Given the description of an element on the screen output the (x, y) to click on. 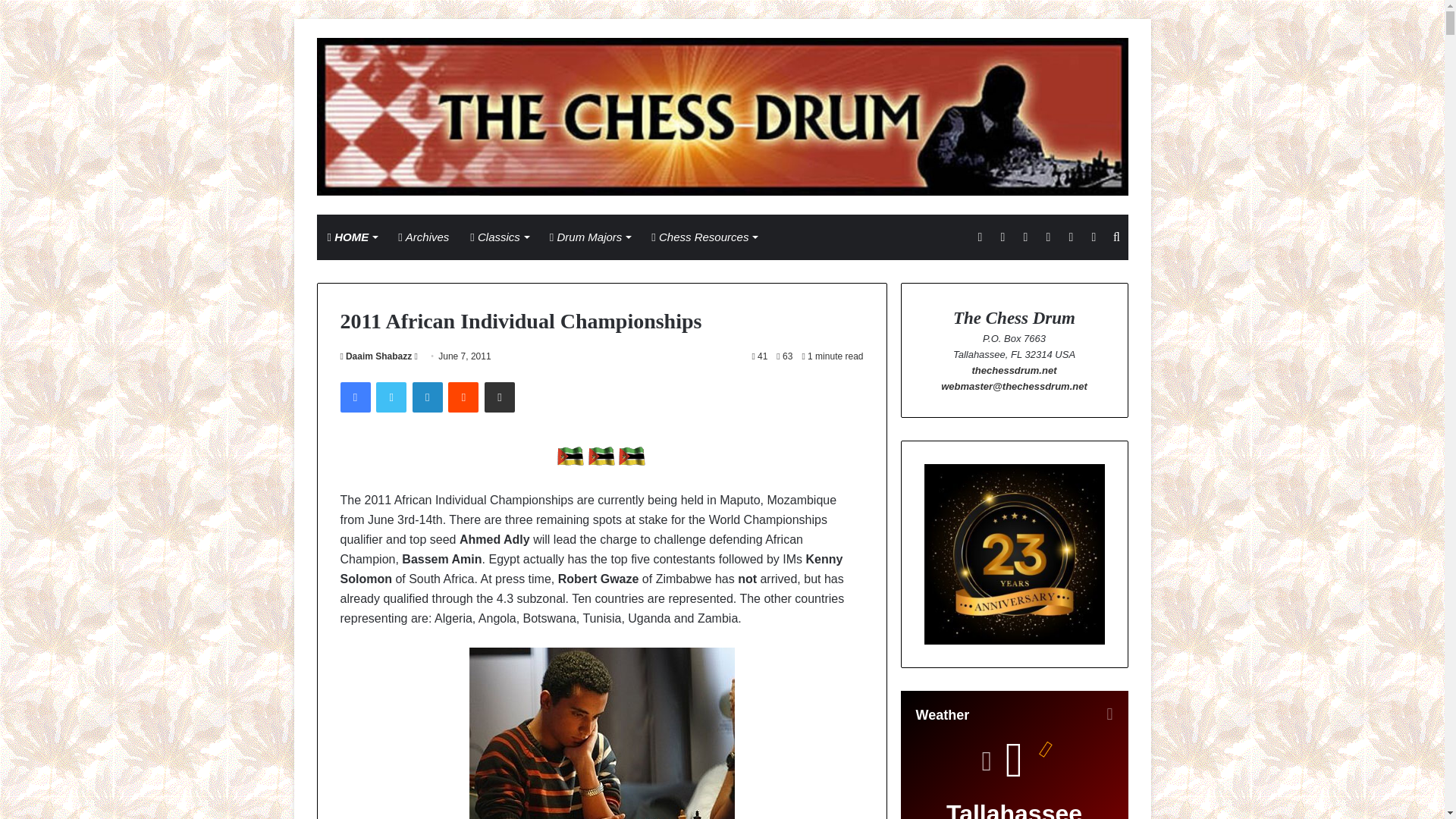
Share via Email (499, 397)
Daaim Shabazz (375, 356)
Daaim Shabazz (375, 356)
LinkedIn (427, 397)
Facebook (354, 397)
Archives (423, 237)
Drum Majors (590, 237)
Reddit (463, 397)
Classics (499, 237)
Facebook (354, 397)
Twitter (390, 397)
LinkedIn (427, 397)
The Chess Drum... thechessdrum.net (722, 116)
Twitter (390, 397)
Reddit (463, 397)
